Given the description of an element on the screen output the (x, y) to click on. 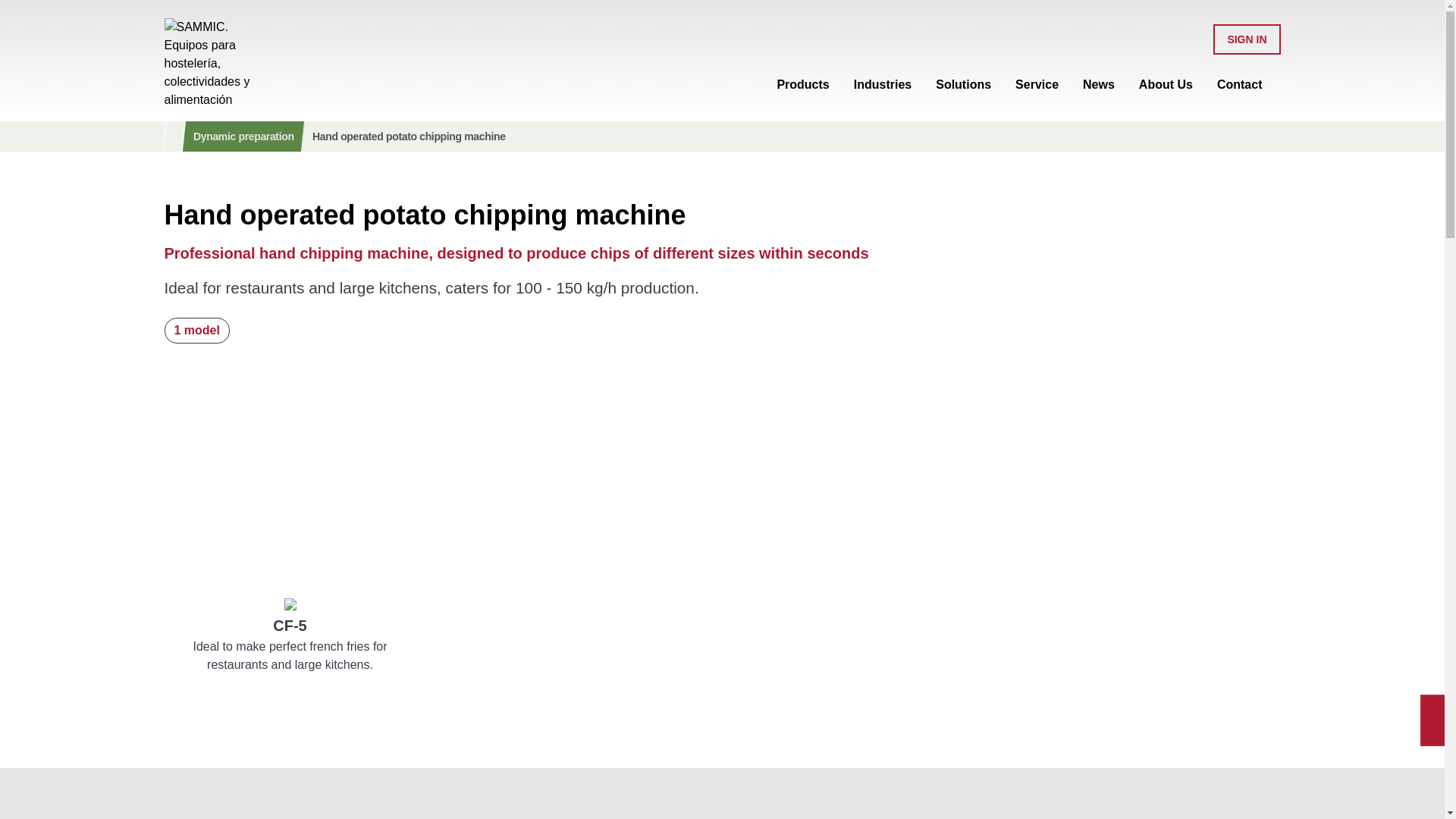
SIGN IN (1245, 38)
Main page (206, 63)
Contact (1239, 81)
News (1099, 81)
